Given the description of an element on the screen output the (x, y) to click on. 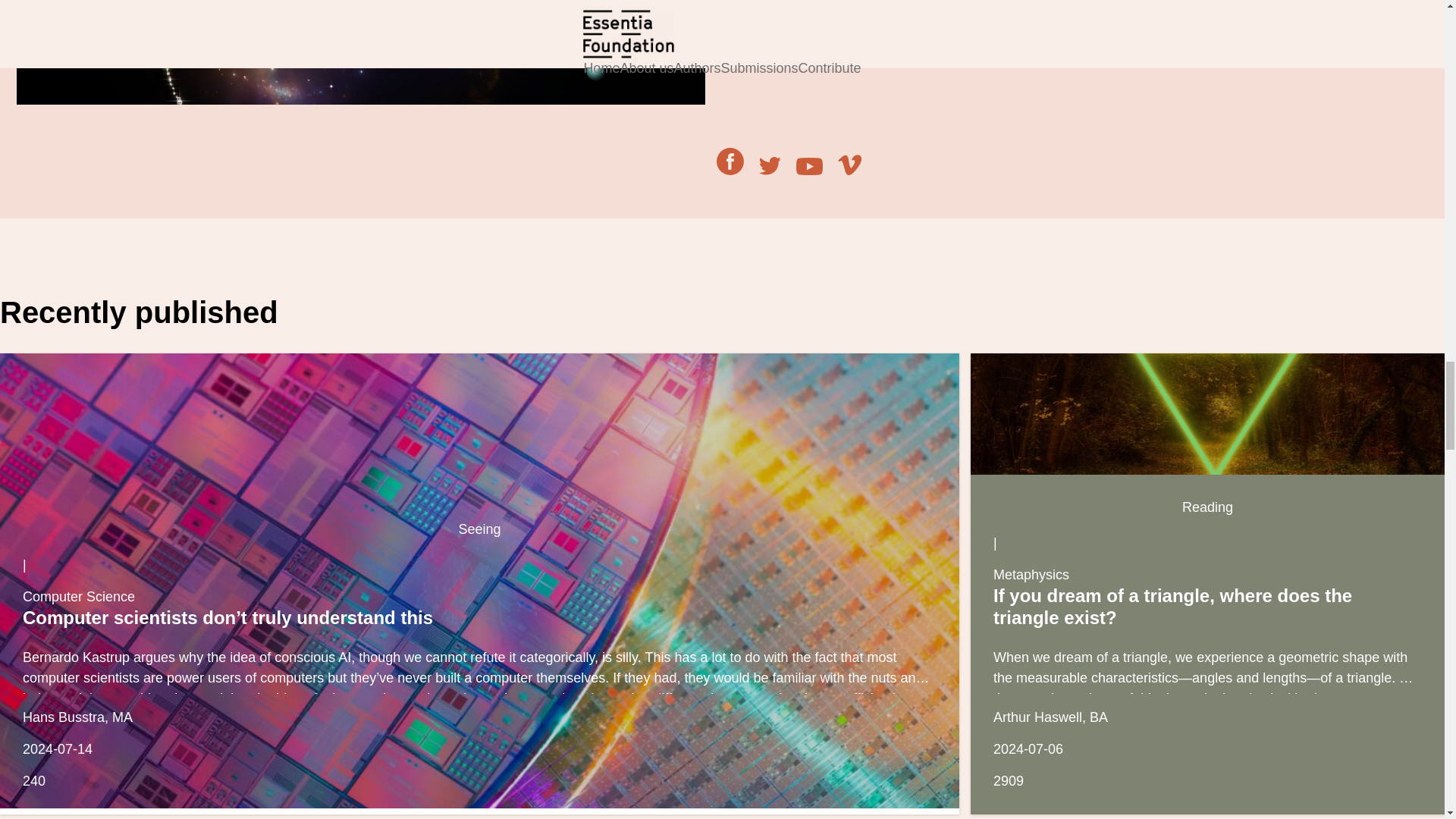
Arthur Haswell, BA (1050, 717)
Hans Busstra, MA (77, 717)
If you dream of a triangle, where does the triangle exist? (1172, 606)
Our editorial commitment (841, 12)
Subhash MIND BEFORE MATTER scaled (360, 52)
About us (841, 12)
Hans Busstra, MA (77, 717)
If you dream of a triangle, where does the triangle exist? (1207, 413)
